Given the description of an element on the screen output the (x, y) to click on. 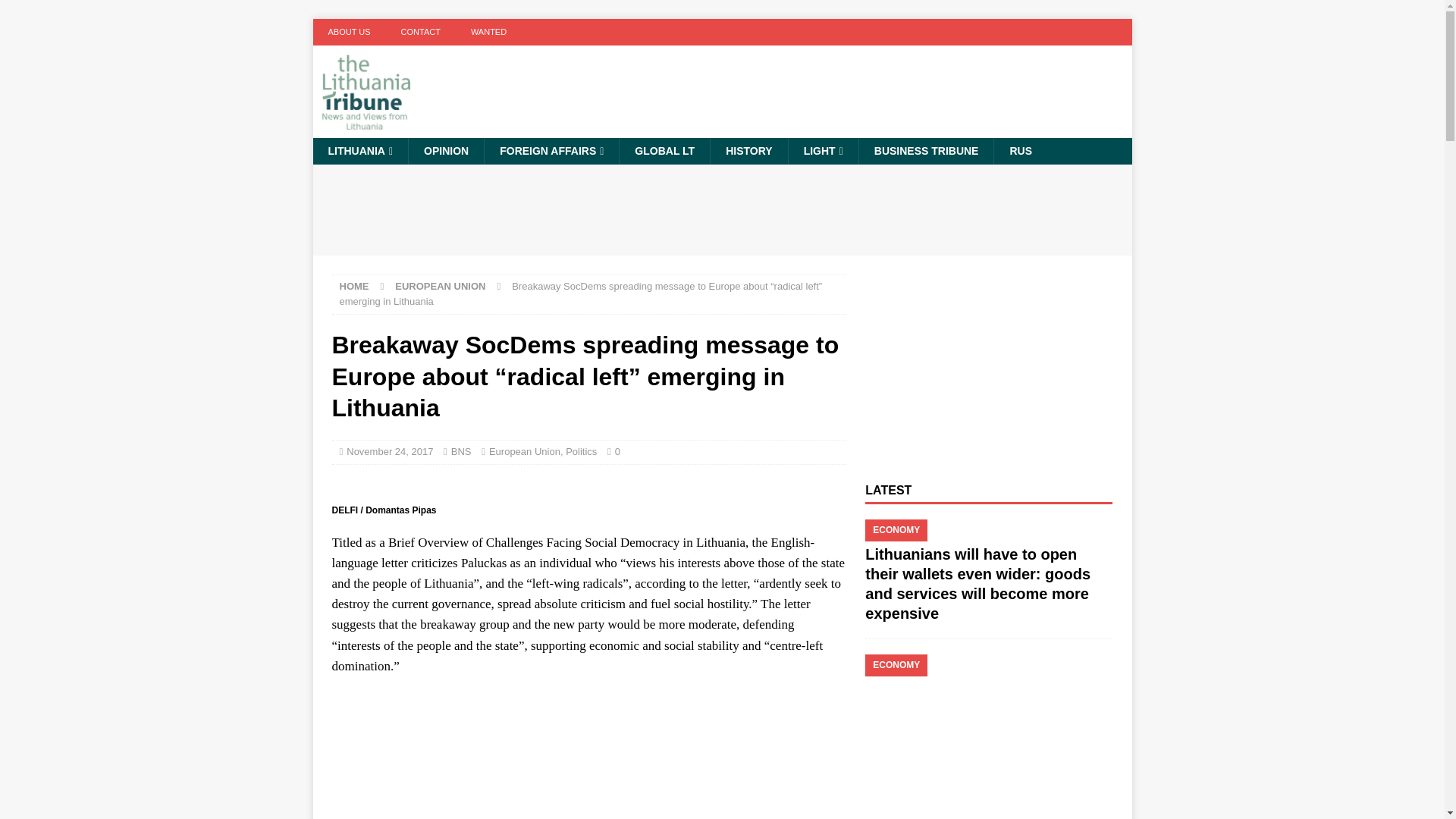
ABOUT US (349, 31)
CONTACT (420, 31)
WANTED (488, 31)
LITHUANIA (360, 150)
